Given the description of an element on the screen output the (x, y) to click on. 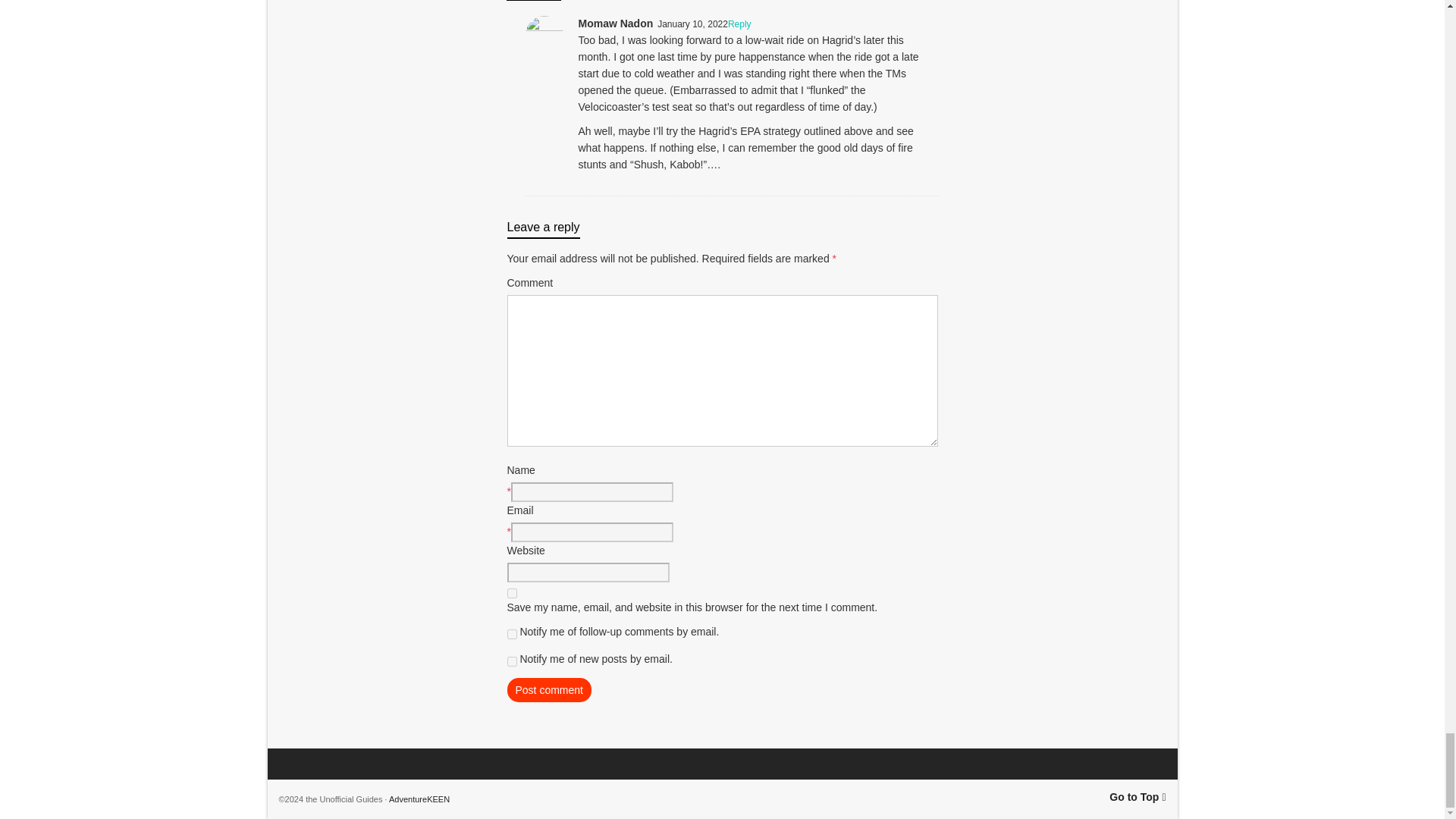
Post comment (548, 689)
yes (511, 593)
subscribe (511, 661)
subscribe (511, 634)
